Given the description of an element on the screen output the (x, y) to click on. 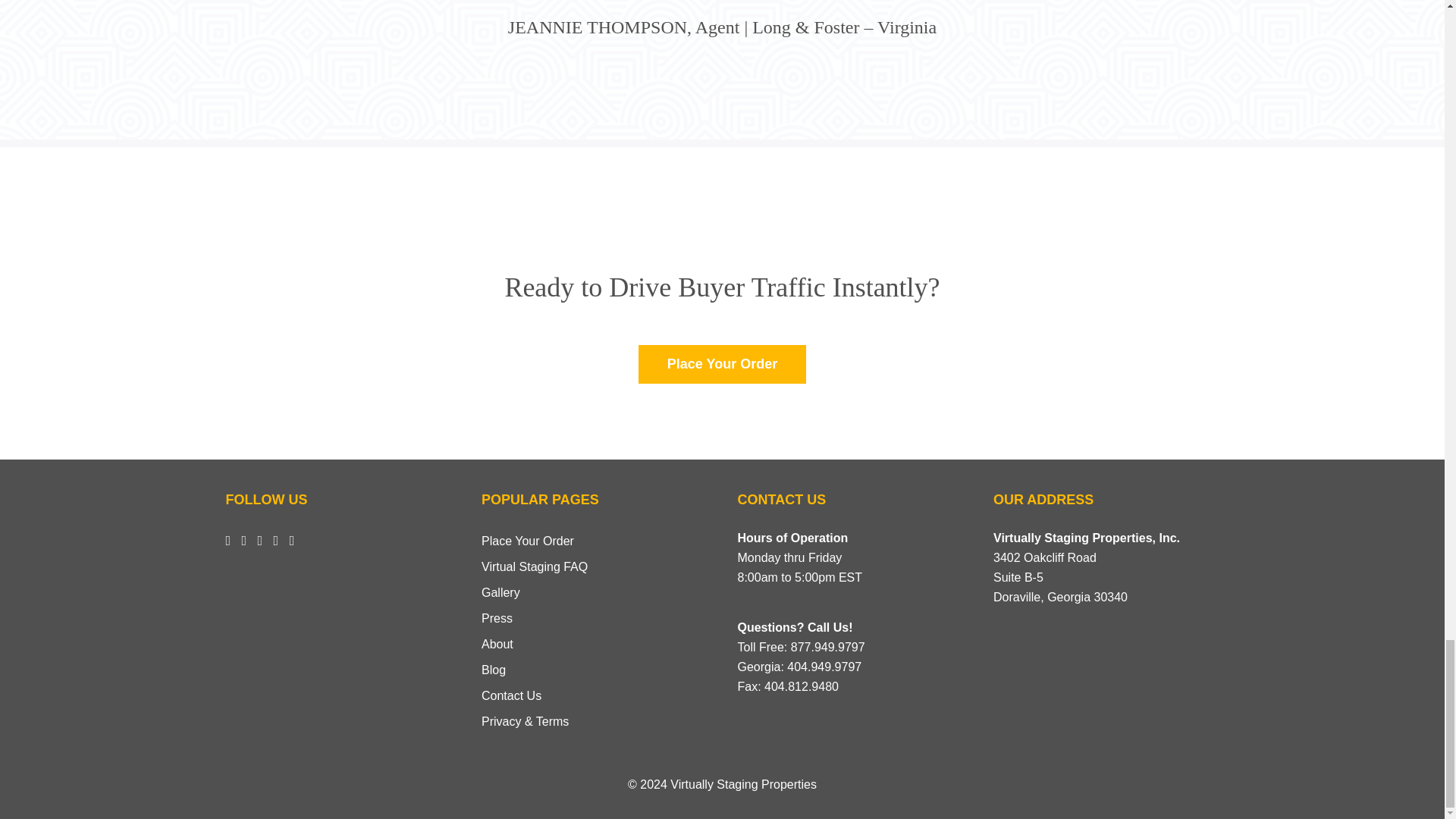
Place Your Order (527, 540)
About (497, 644)
Place Your Order (722, 364)
Press (496, 617)
877.949.9797 (827, 646)
Gallery (500, 592)
Virtual Staging FAQ (534, 566)
Contact Us (511, 695)
Blog (493, 669)
